Given the description of an element on the screen output the (x, y) to click on. 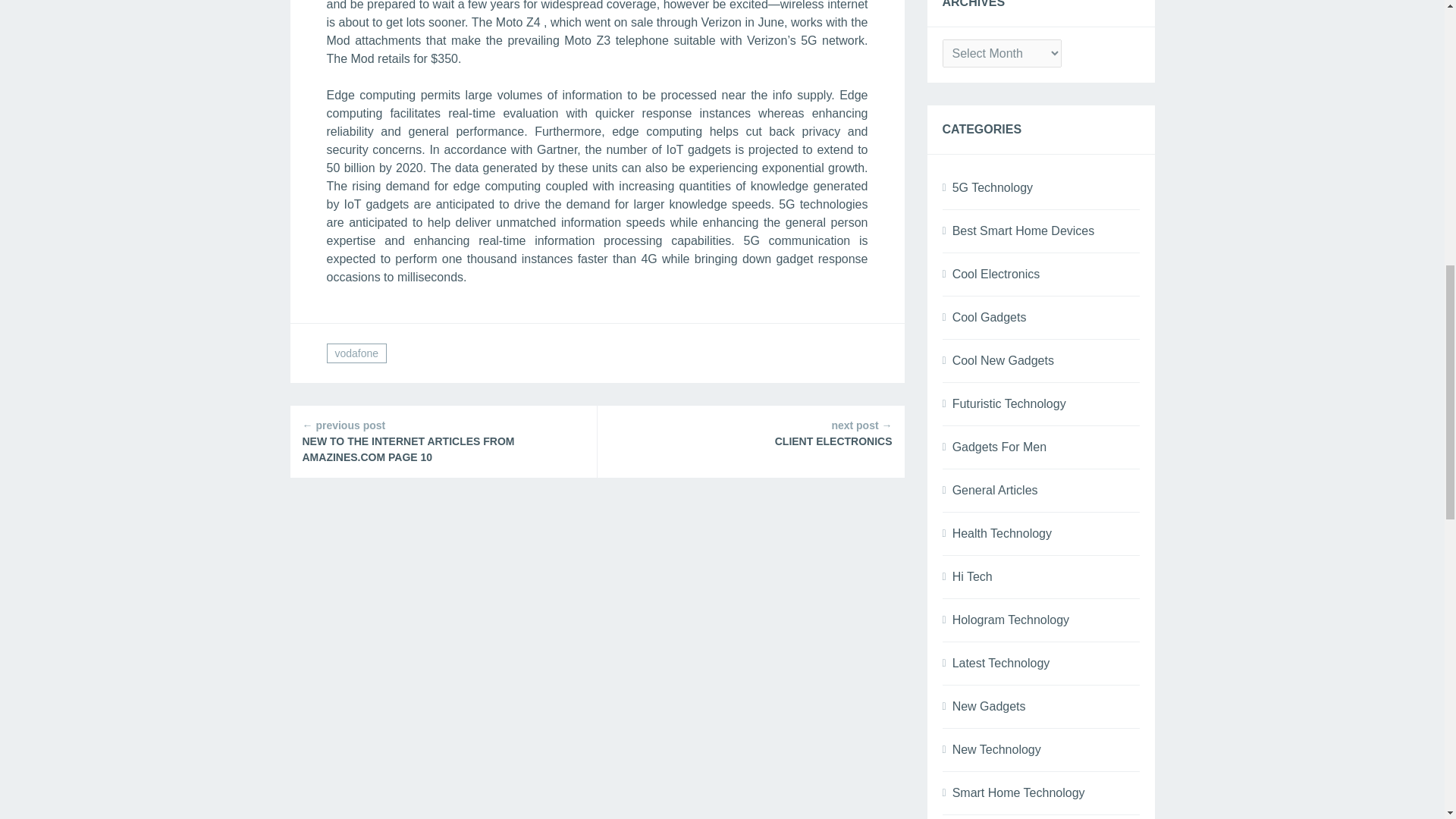
5G Technology (992, 187)
Cool New Gadgets (1003, 359)
Futuristic Technology (1008, 403)
vodafone (356, 353)
Best Smart Home Devices (1023, 230)
Cool Electronics (996, 273)
Gadgets For Men (999, 446)
Cool Gadgets (989, 317)
